Given the description of an element on the screen output the (x, y) to click on. 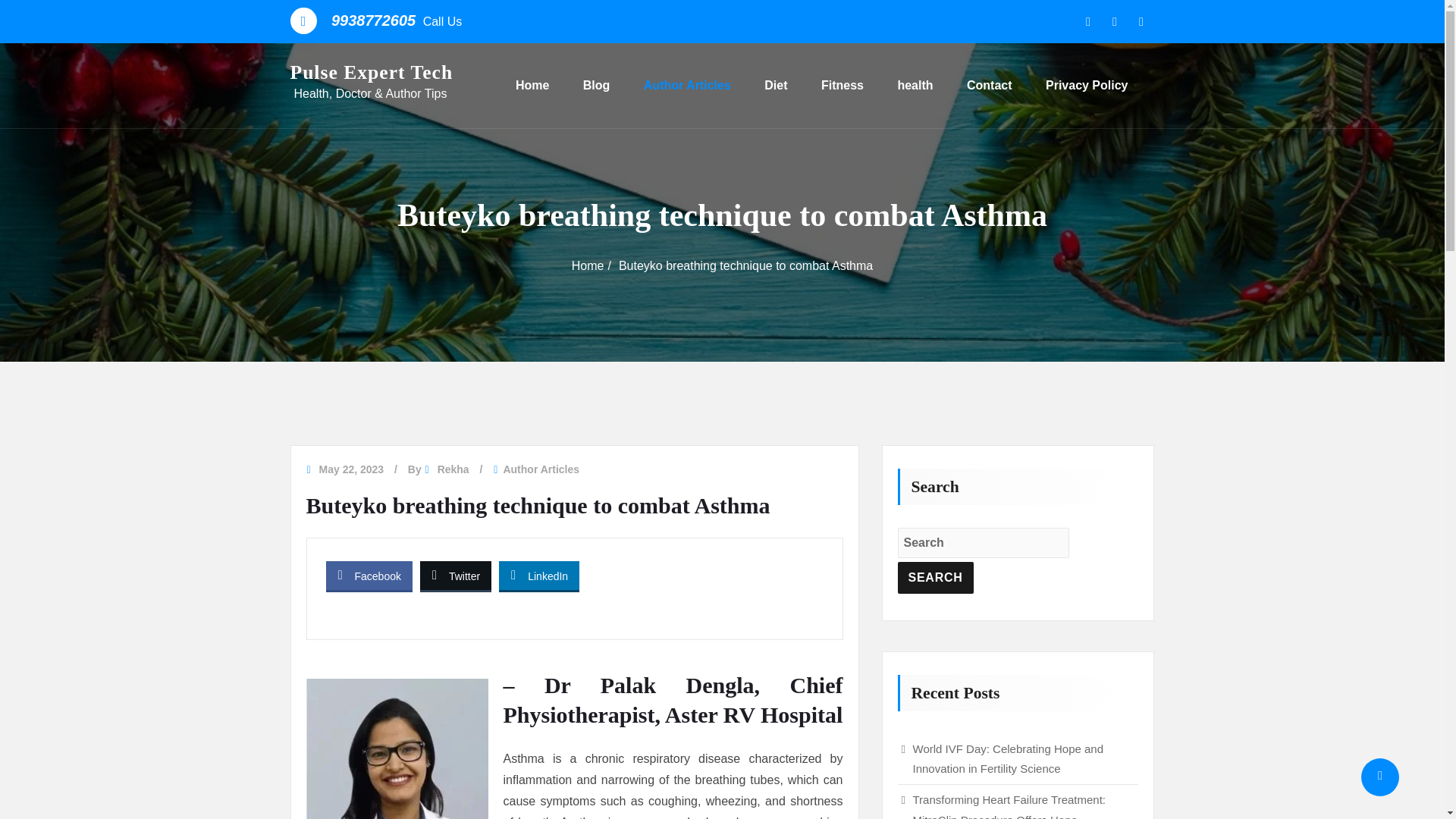
Fitness (842, 84)
Pulse Expert Tech (370, 73)
Diet (775, 84)
Rekha (453, 469)
May 22, 2023 (351, 469)
Search (936, 577)
Search (936, 577)
Twitter (456, 575)
Author Articles (686, 84)
9938772605 Call Us (396, 21)
LinkedIn (539, 575)
Buteyko breathing technique to combat Asthma (745, 265)
Privacy Policy (1086, 84)
Contact (988, 84)
